Given the description of an element on the screen output the (x, y) to click on. 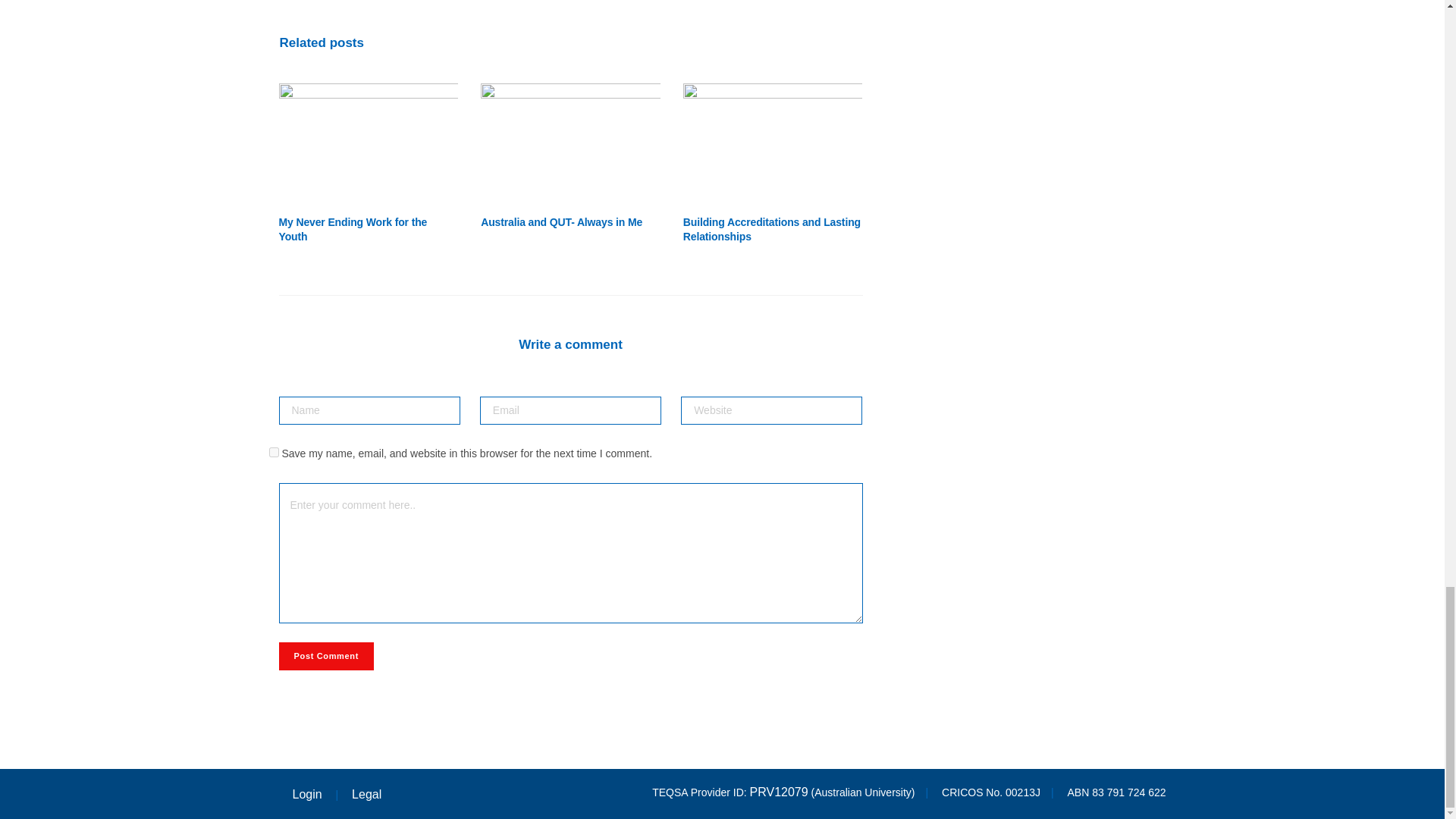
yes (272, 452)
Post Comment (326, 656)
Building Accreditations and Lasting Relationships (771, 229)
Australia and QUT- Always in Me (570, 143)
My Never Ending Work for the Youth (353, 229)
My Never Ending Work for the Youth (368, 143)
Australia and QUT- Always in Me (561, 222)
Building Accreditations and Lasting Relationships (772, 143)
Post Comment (326, 656)
